Given the description of an element on the screen output the (x, y) to click on. 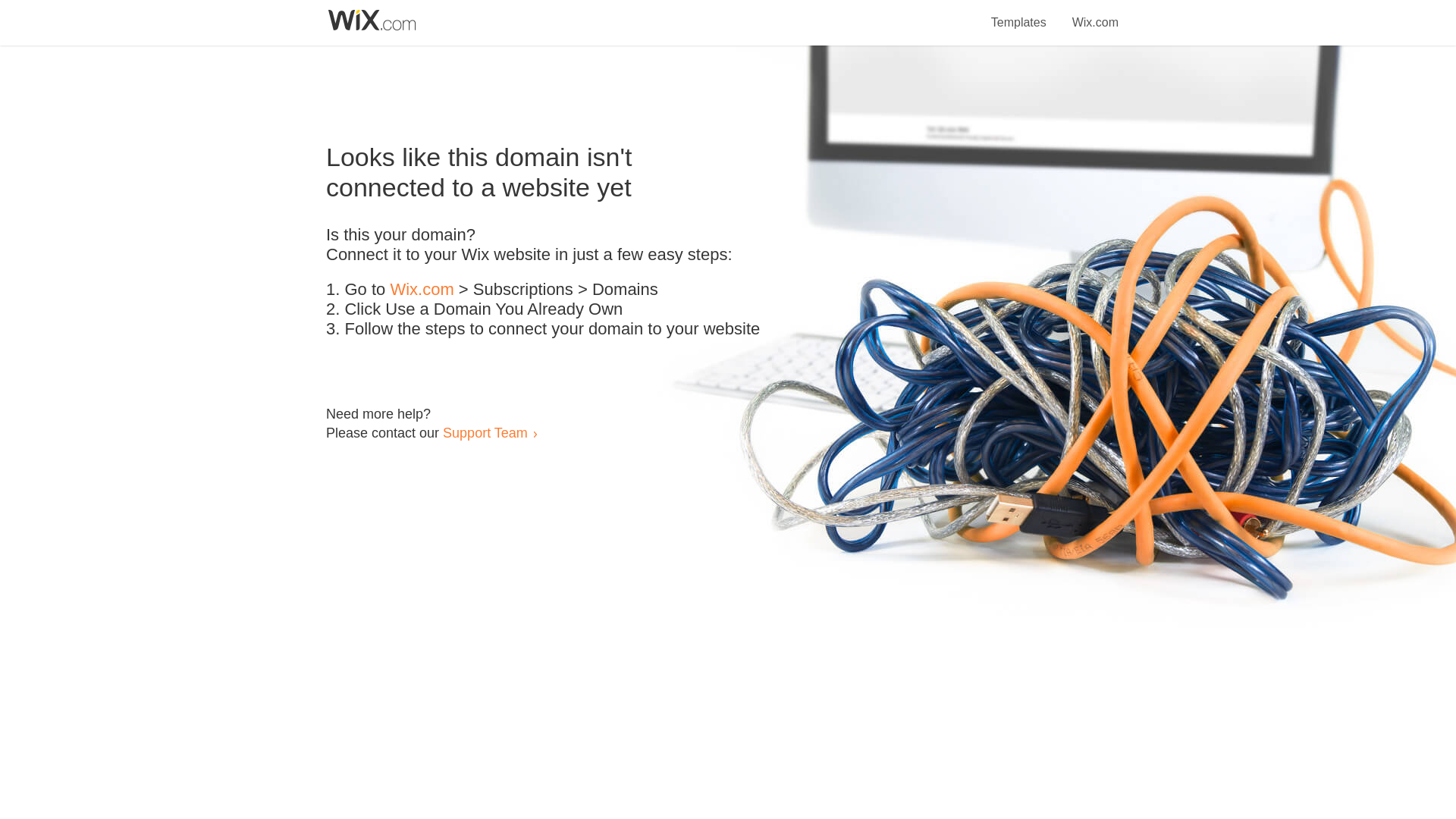
Support Team (484, 432)
Wix.com (421, 289)
Wix.com (1095, 14)
Templates (1018, 14)
